Given the description of an element on the screen output the (x, y) to click on. 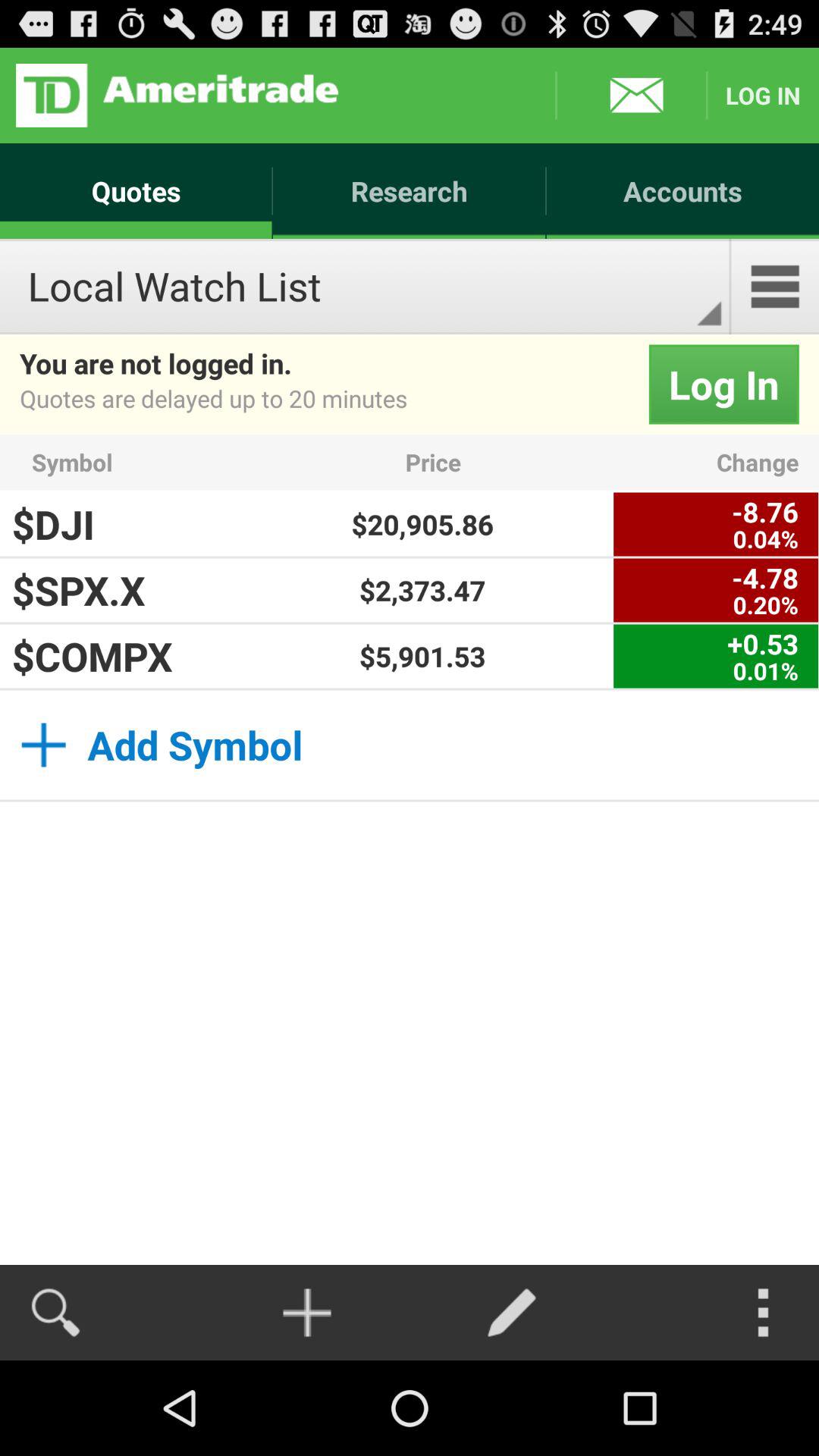
jump to the $5,901.53 (422, 656)
